Given the description of an element on the screen output the (x, y) to click on. 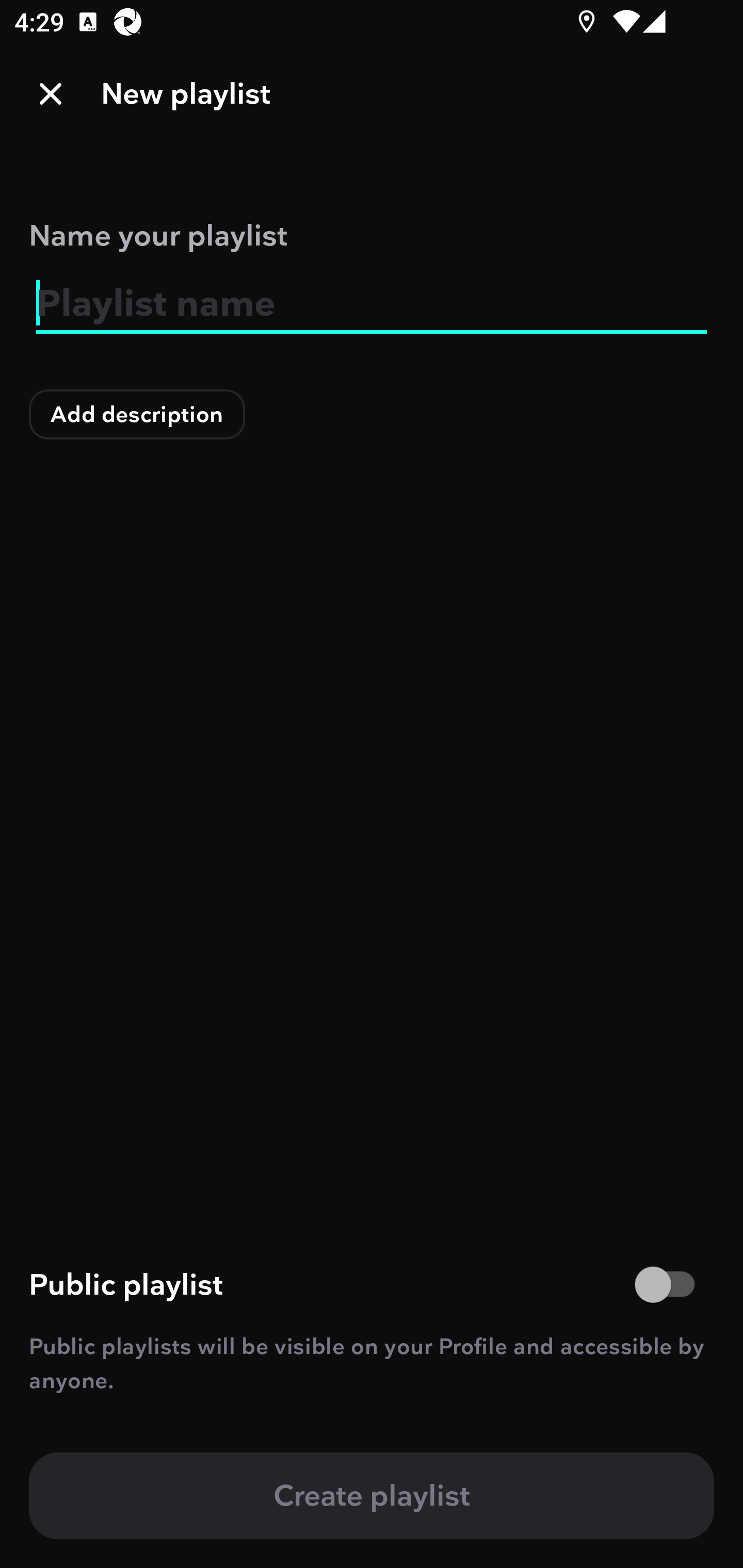
Back (50, 93)
Playlist name (371, 303)
Add description (136, 413)
Create playlist (371, 1495)
